Given the description of an element on the screen output the (x, y) to click on. 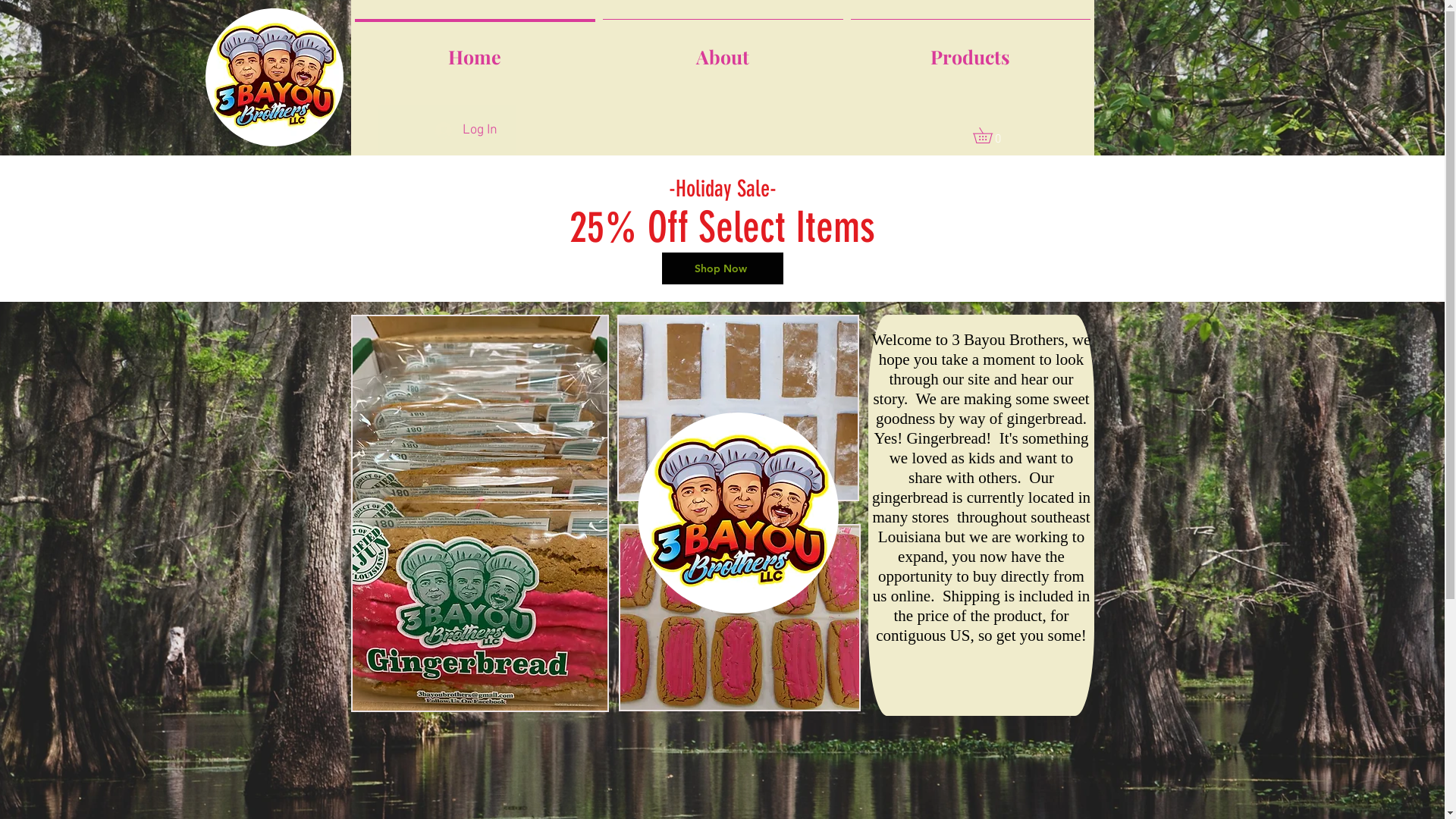
Shop Now Element type: text (721, 268)
About Element type: text (723, 49)
0 Element type: text (989, 135)
Products Element type: text (969, 49)
Home Element type: text (474, 49)
Log In Element type: text (466, 130)
